Given the description of an element on the screen output the (x, y) to click on. 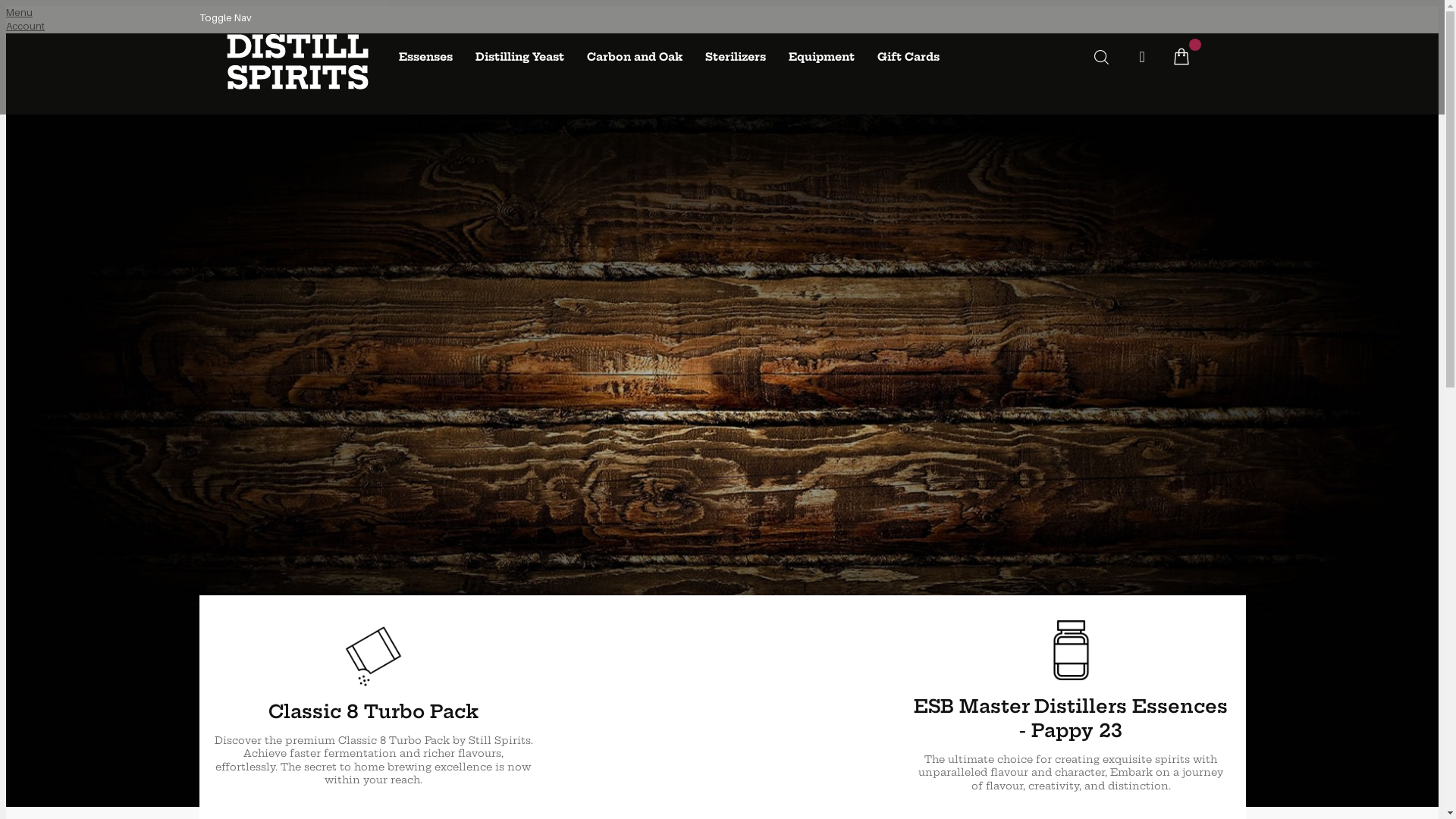
SEARCH Element type: text (1101, 56)
Distill Spirits Element type: hover (295, 96)
Menu Element type: text (19, 12)
Sterilizers Element type: text (735, 56)
Account Element type: text (25, 25)
Gift Cards Element type: text (908, 56)
Image 01 Element type: hover (721, 706)
Equipment Element type: text (821, 56)
Essenses Element type: text (425, 56)
Carbon and Oak Element type: text (634, 56)
Distilling Yeast Element type: text (519, 56)
